Given the description of an element on the screen output the (x, y) to click on. 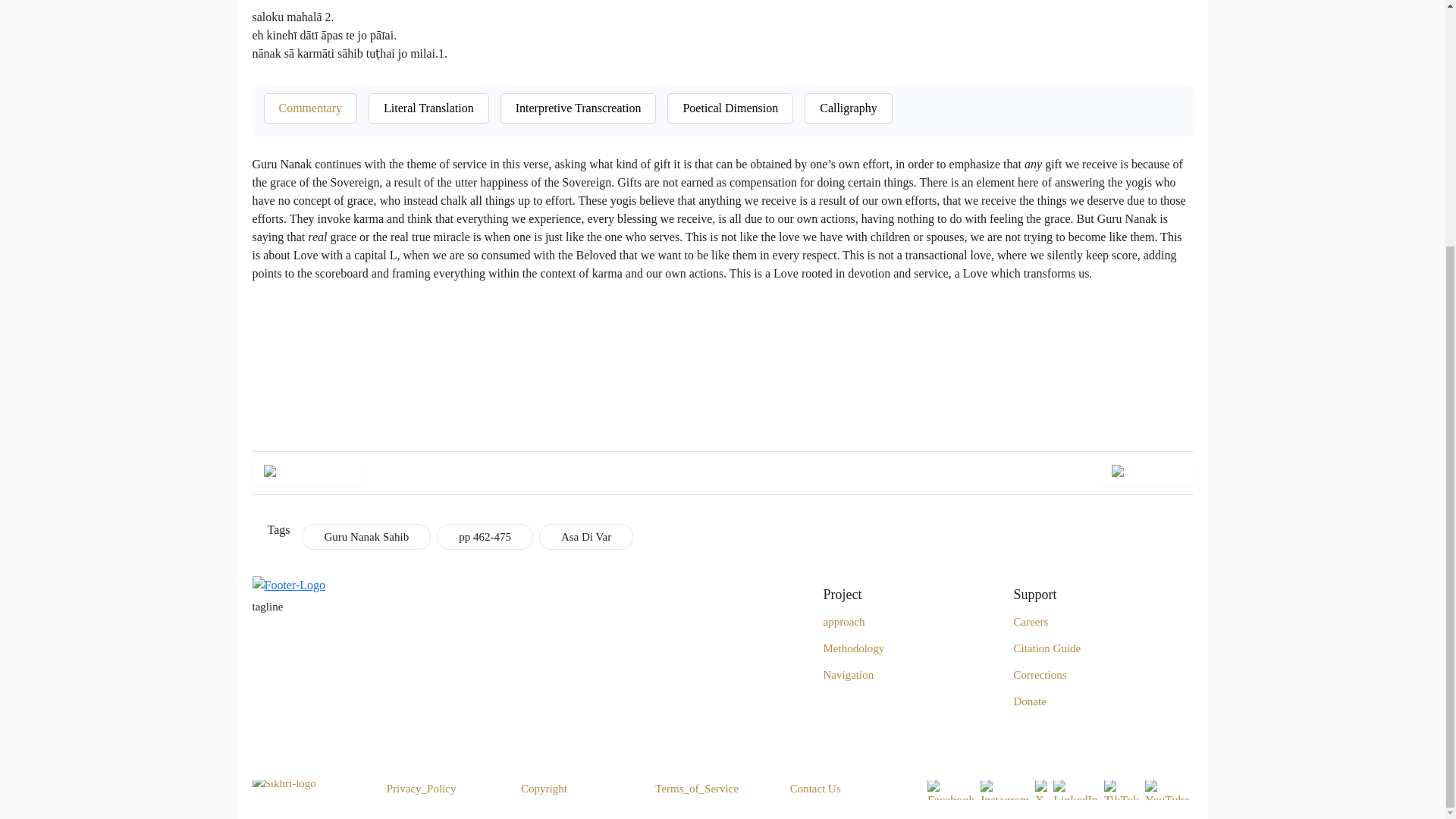
Citation Guide (1046, 648)
Contact Us (815, 788)
Methodology (854, 648)
Navigation (849, 674)
Corrections (1039, 674)
Careers (1030, 621)
approach (844, 621)
Donate (1029, 701)
Copyright (544, 788)
